Given the description of an element on the screen output the (x, y) to click on. 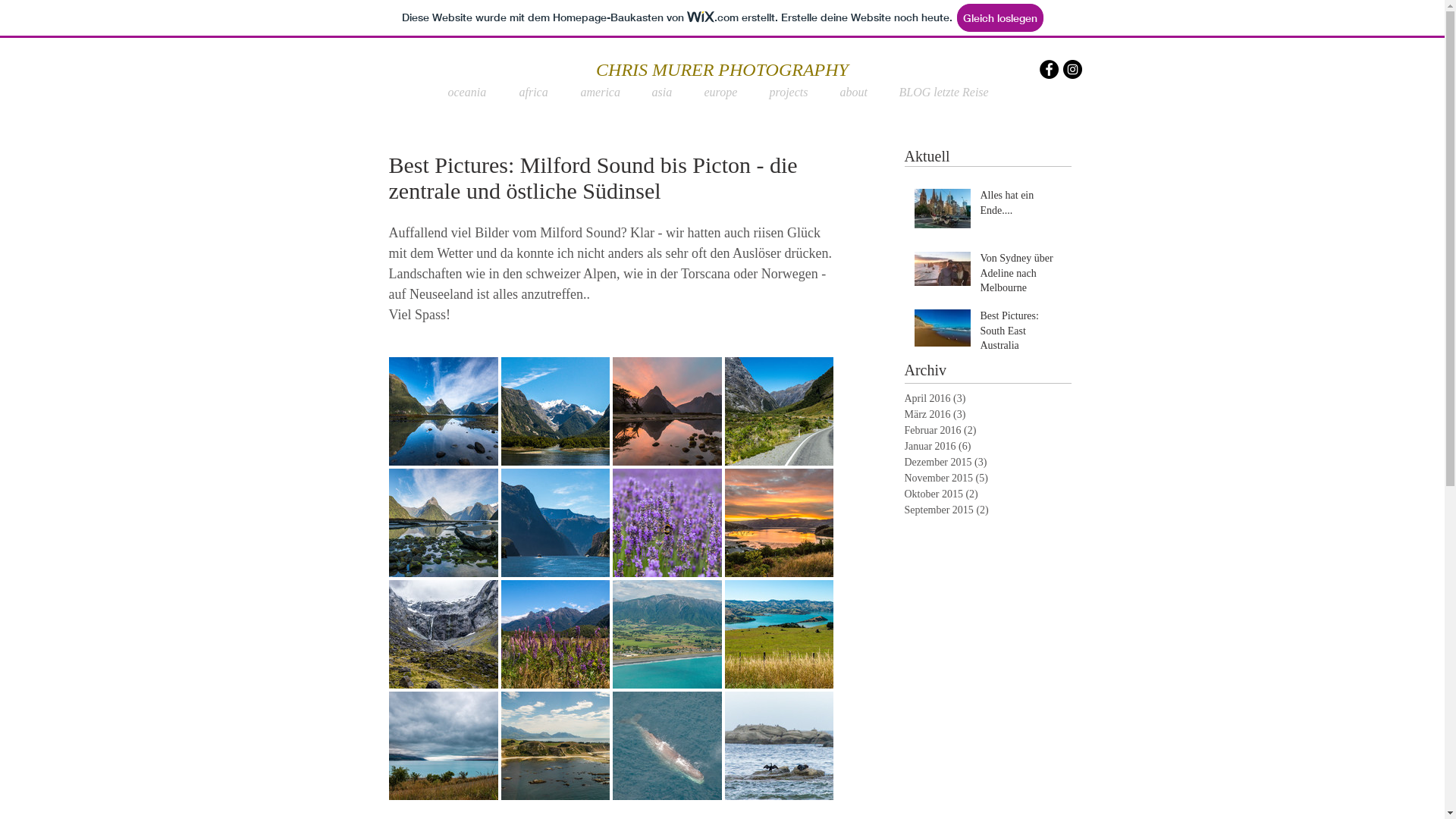
Oktober 2015 (2) Element type: text (983, 494)
Januar 2016 (6) Element type: text (983, 446)
BLOG letzte Reise Element type: text (947, 92)
September 2015 (2) Element type: text (983, 509)
CHRIS MURER PHOTOGRAPHY Element type: text (722, 69)
about Element type: text (857, 92)
Februar 2016 (2) Element type: text (983, 430)
November 2015 (5) Element type: text (983, 478)
Alles hat ein Ende.... Element type: text (1020, 205)
Dezember 2015 (3) Element type: text (983, 462)
Best Pictures: South East Australia Element type: text (1020, 333)
April 2016 (3) Element type: text (983, 398)
